Given the description of an element on the screen output the (x, y) to click on. 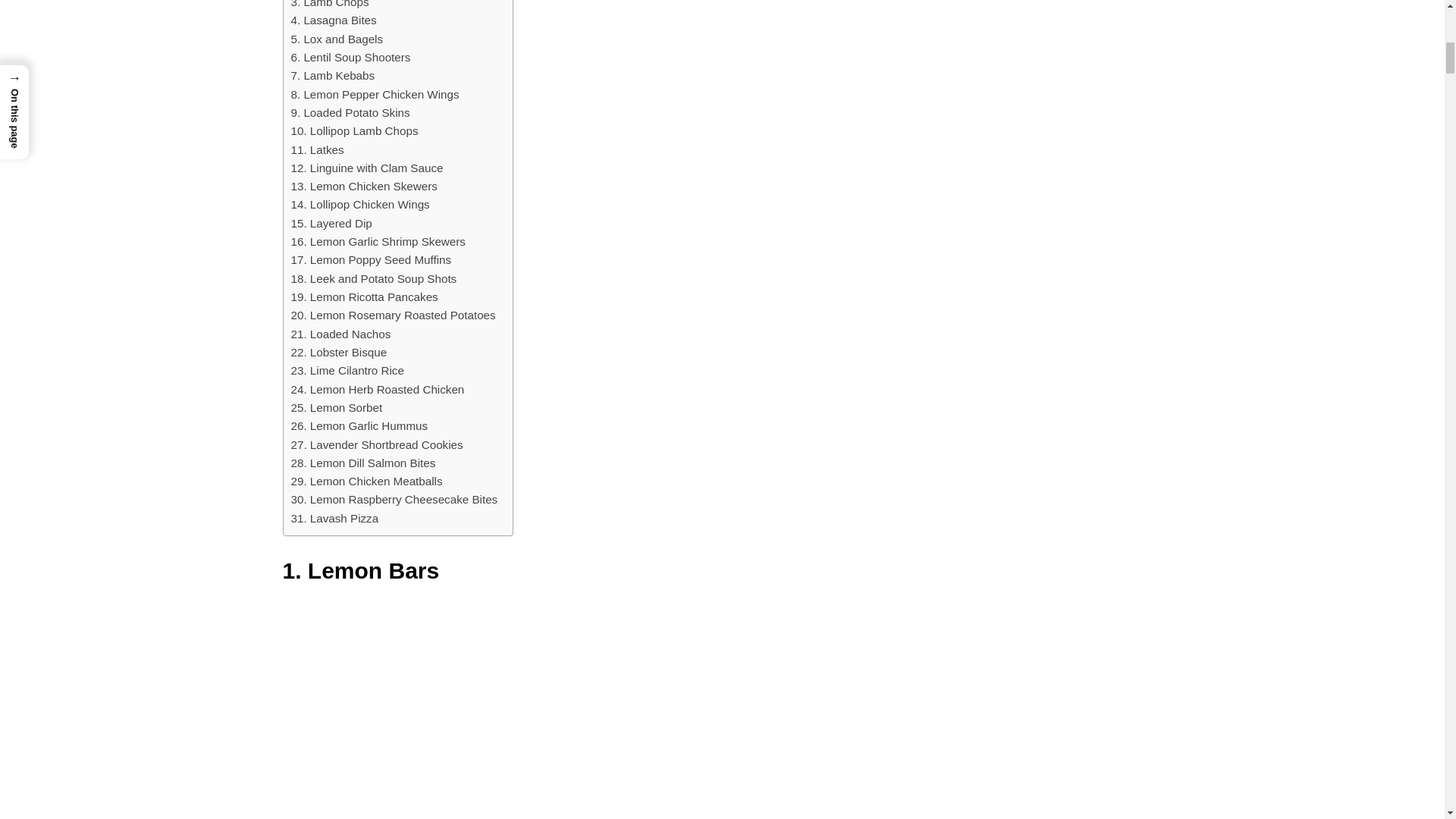
5. Lox and Bagels (337, 39)
4. Lasagna Bites (334, 20)
9. Loaded Potato Skins (350, 113)
3. Lamb Chops (330, 5)
6. Lentil Soup Shooters (350, 57)
12. Linguine with Clam Sauce (367, 167)
10. Lollipop Lamb Chops (355, 131)
11. Latkes (317, 149)
8. Lemon Pepper Chicken Wings (375, 94)
7. Lamb Kebabs (333, 75)
